Given the description of an element on the screen output the (x, y) to click on. 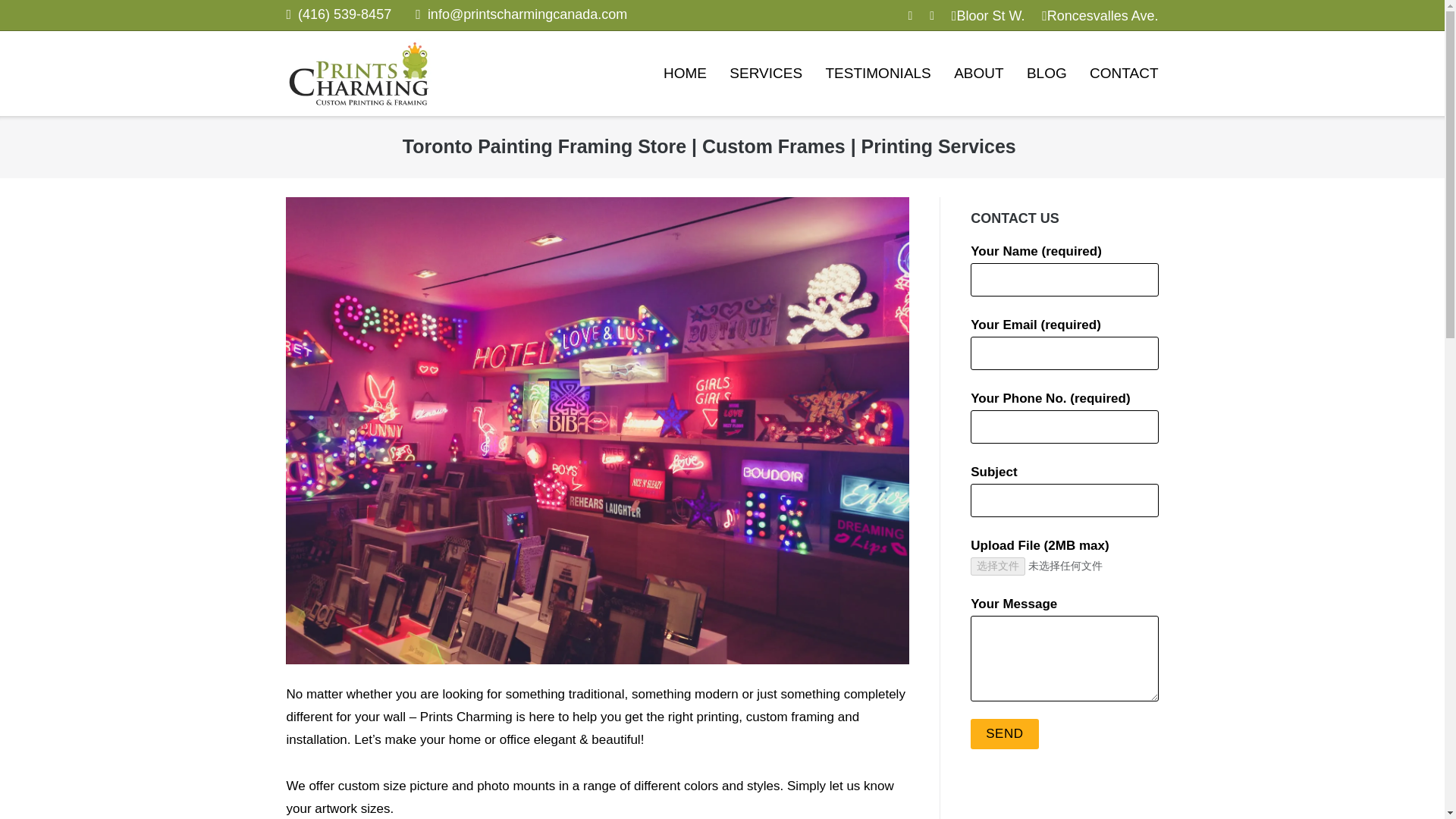
YouTube (910, 15)
Instagram (932, 15)
CONTACT (1123, 73)
ABOUT (978, 73)
BLOG (1046, 73)
Send (1004, 734)
HOME (684, 73)
SERVICES (765, 73)
TESTIMONIALS (877, 73)
